Given the description of an element on the screen output the (x, y) to click on. 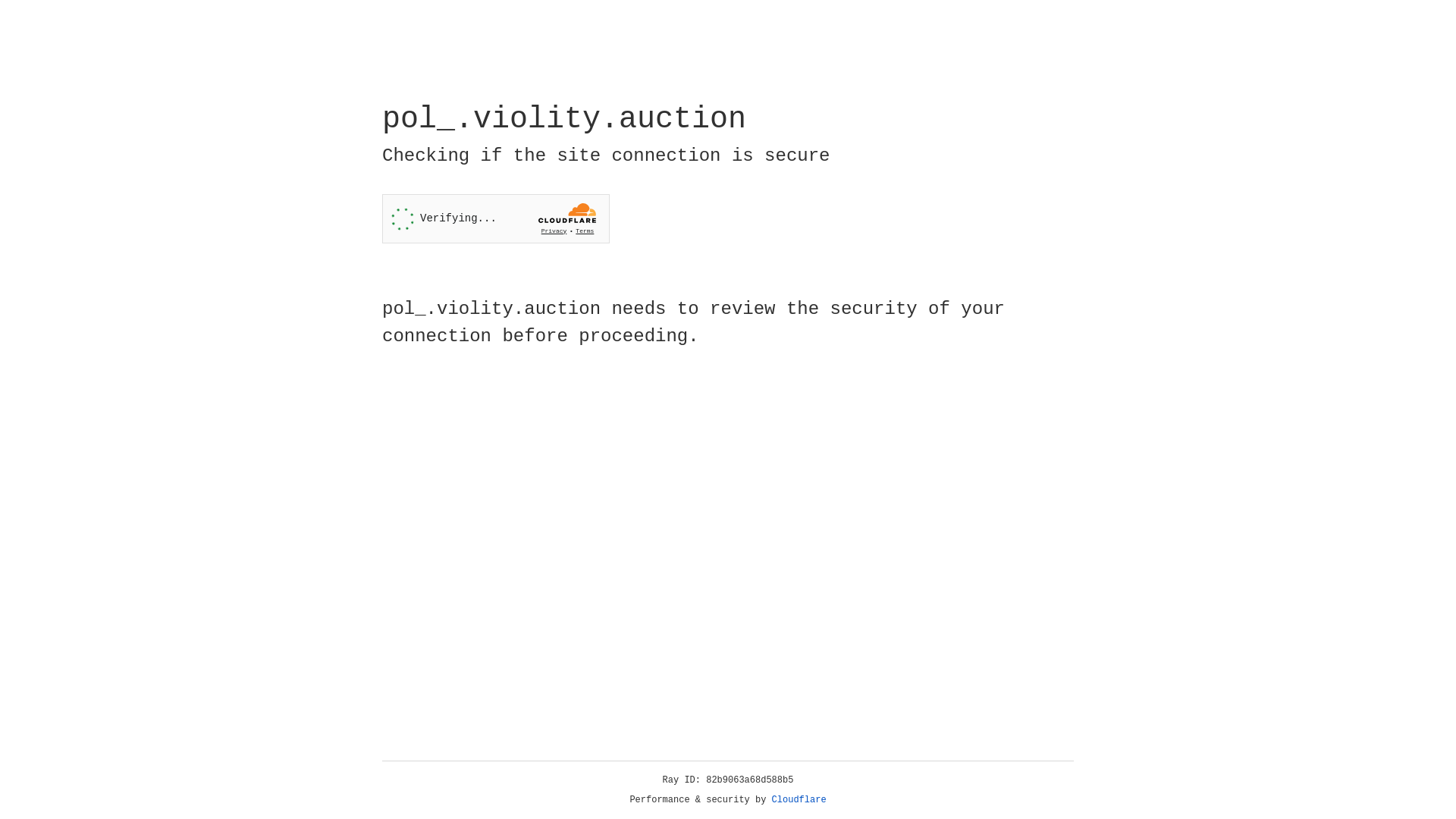
Widget containing a Cloudflare security challenge Element type: hover (495, 218)
Cloudflare Element type: text (798, 799)
